Given the description of an element on the screen output the (x, y) to click on. 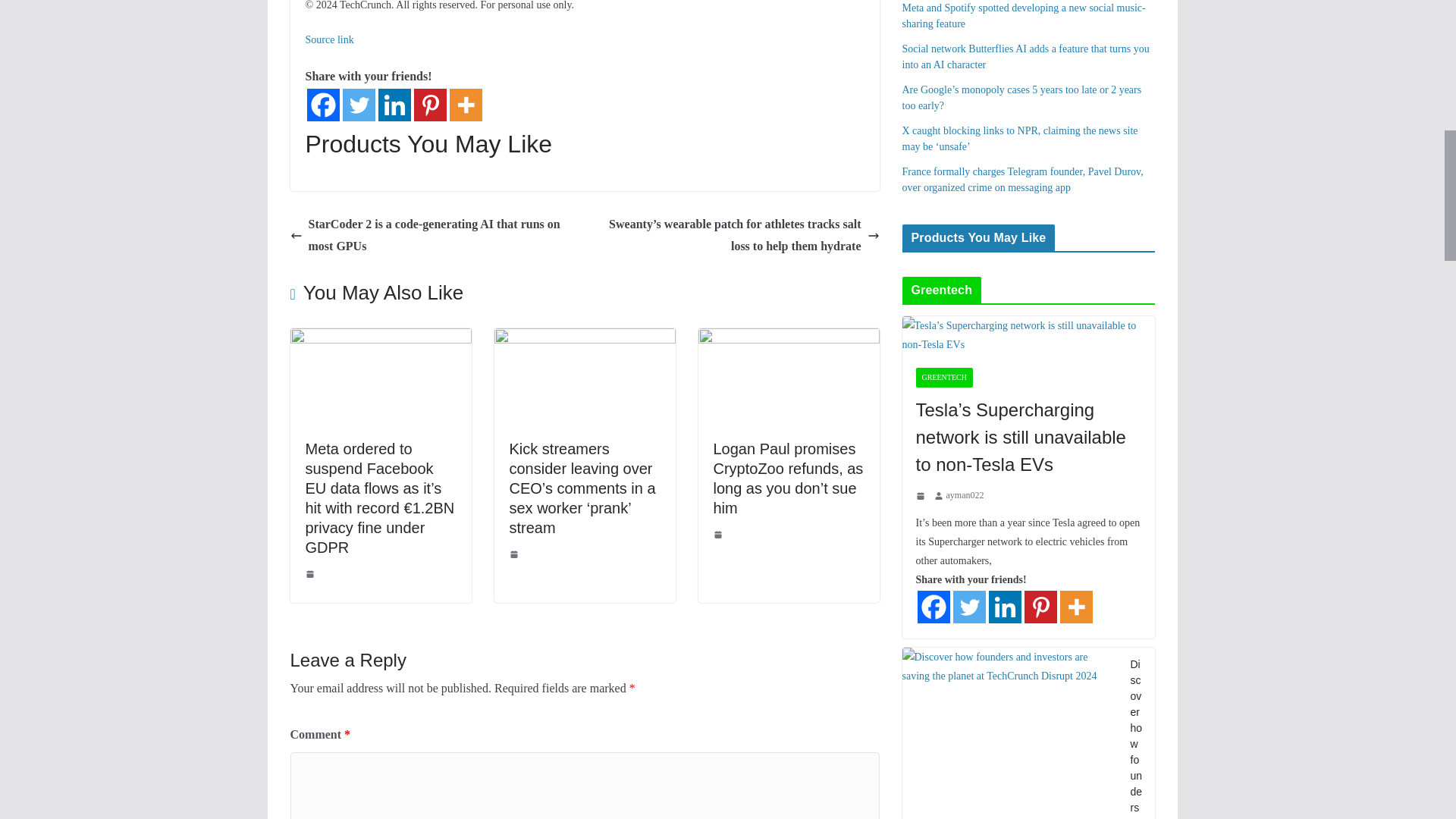
Linkedin (393, 104)
Facebook (322, 104)
StarCoder 2 is a code-generating AI that runs on most GPUs (432, 235)
12:29 pm (310, 573)
Twitter (358, 104)
2:35 am (515, 553)
Pinterest (429, 104)
More (464, 104)
Source link (328, 39)
